Given the description of an element on the screen output the (x, y) to click on. 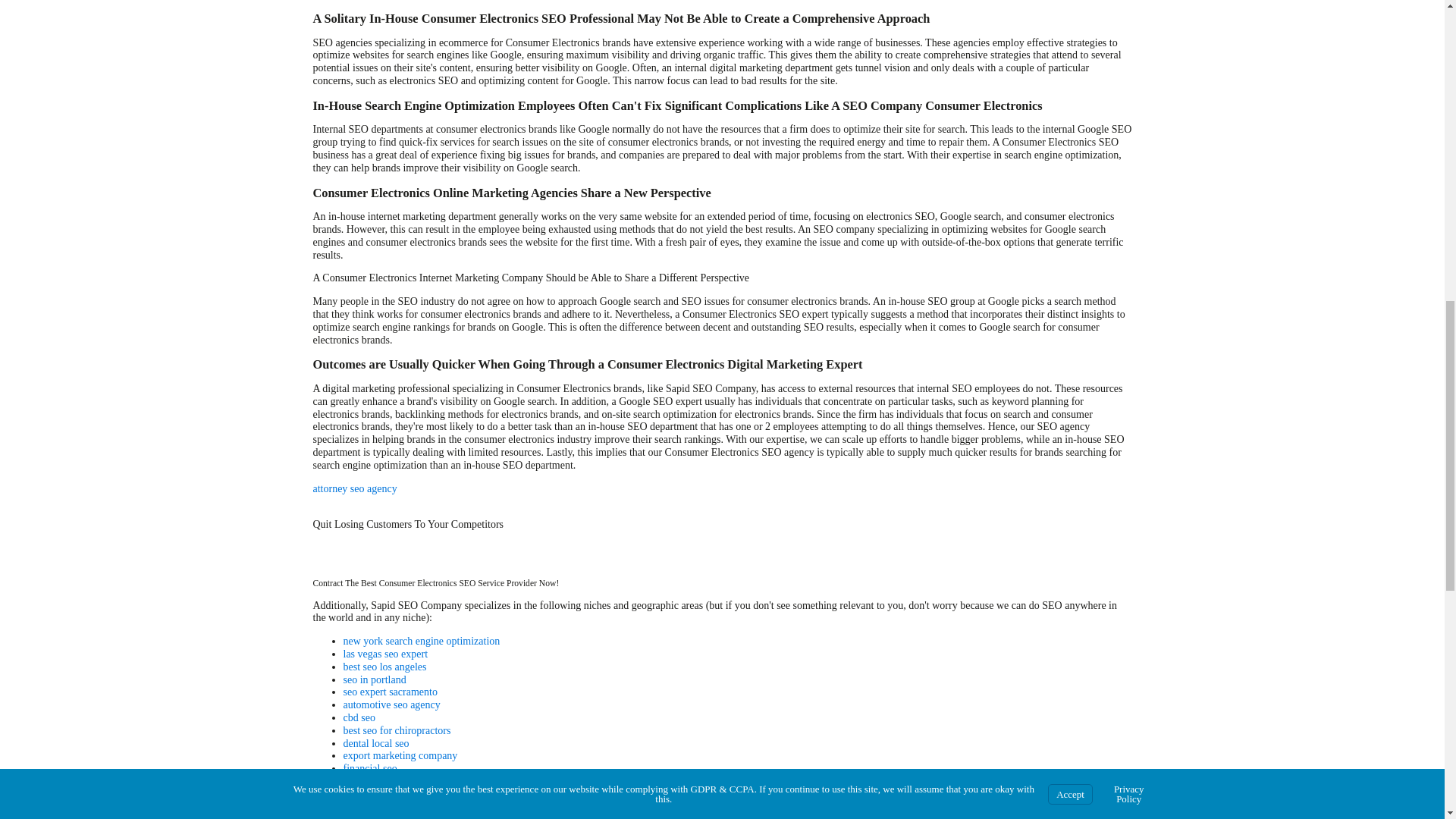
cbd seo (358, 717)
dental local seo (375, 743)
seo expert sacramento (389, 691)
new york search engine optimization (420, 641)
export marketing company (399, 755)
seo for manufacturing companies (413, 794)
attorney seo agency (354, 488)
automotive seo agency (390, 704)
best seo los angeles (384, 666)
hospitality seo agency (389, 781)
